Given the description of an element on the screen output the (x, y) to click on. 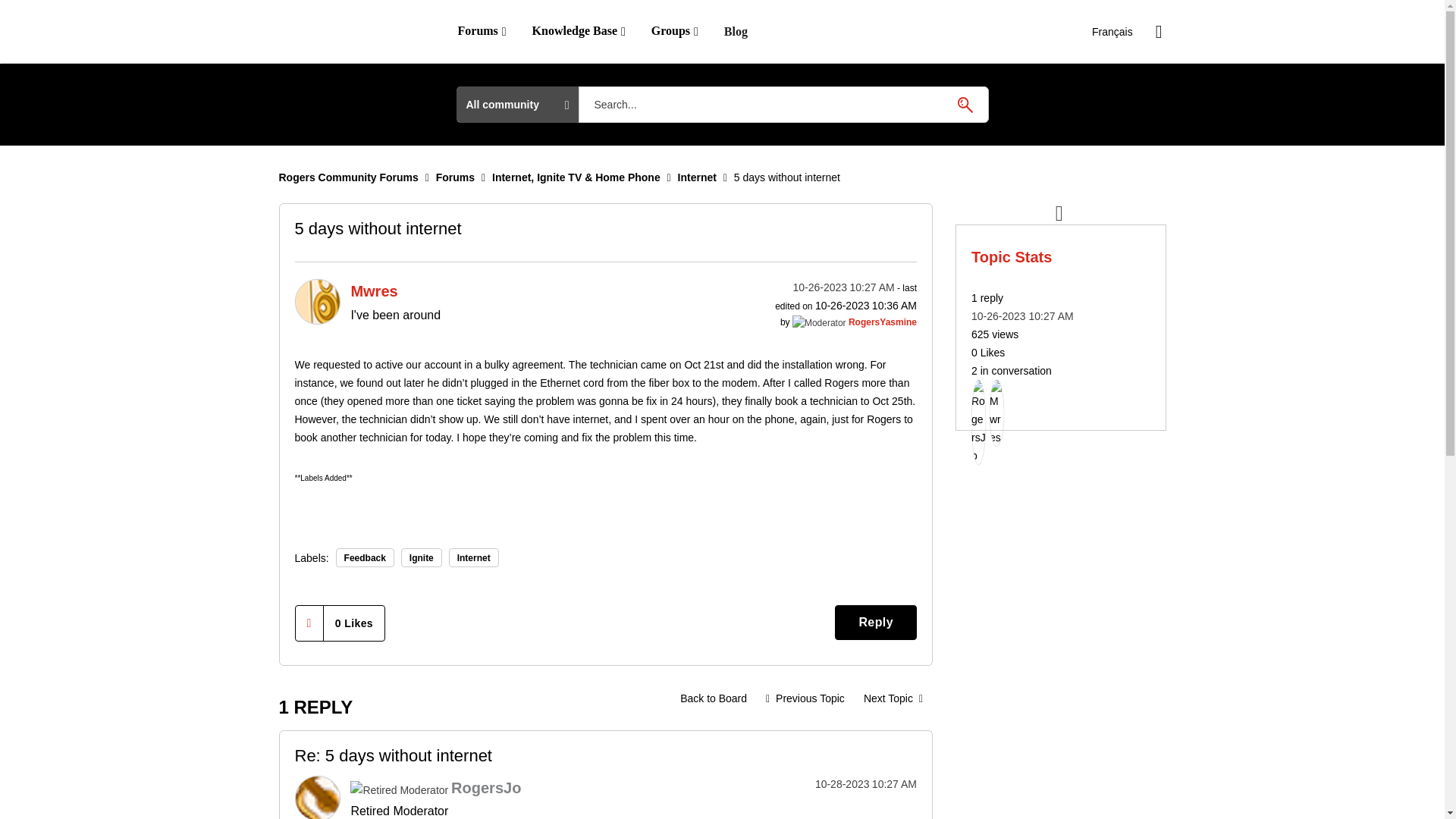
Internet (713, 697)
Search (964, 104)
Search (783, 104)
Internet (697, 177)
Search (964, 104)
Forums (454, 177)
Rogers Community (348, 31)
Search (964, 104)
Groups (675, 31)
Forums (480, 31)
